Given the description of an element on the screen output the (x, y) to click on. 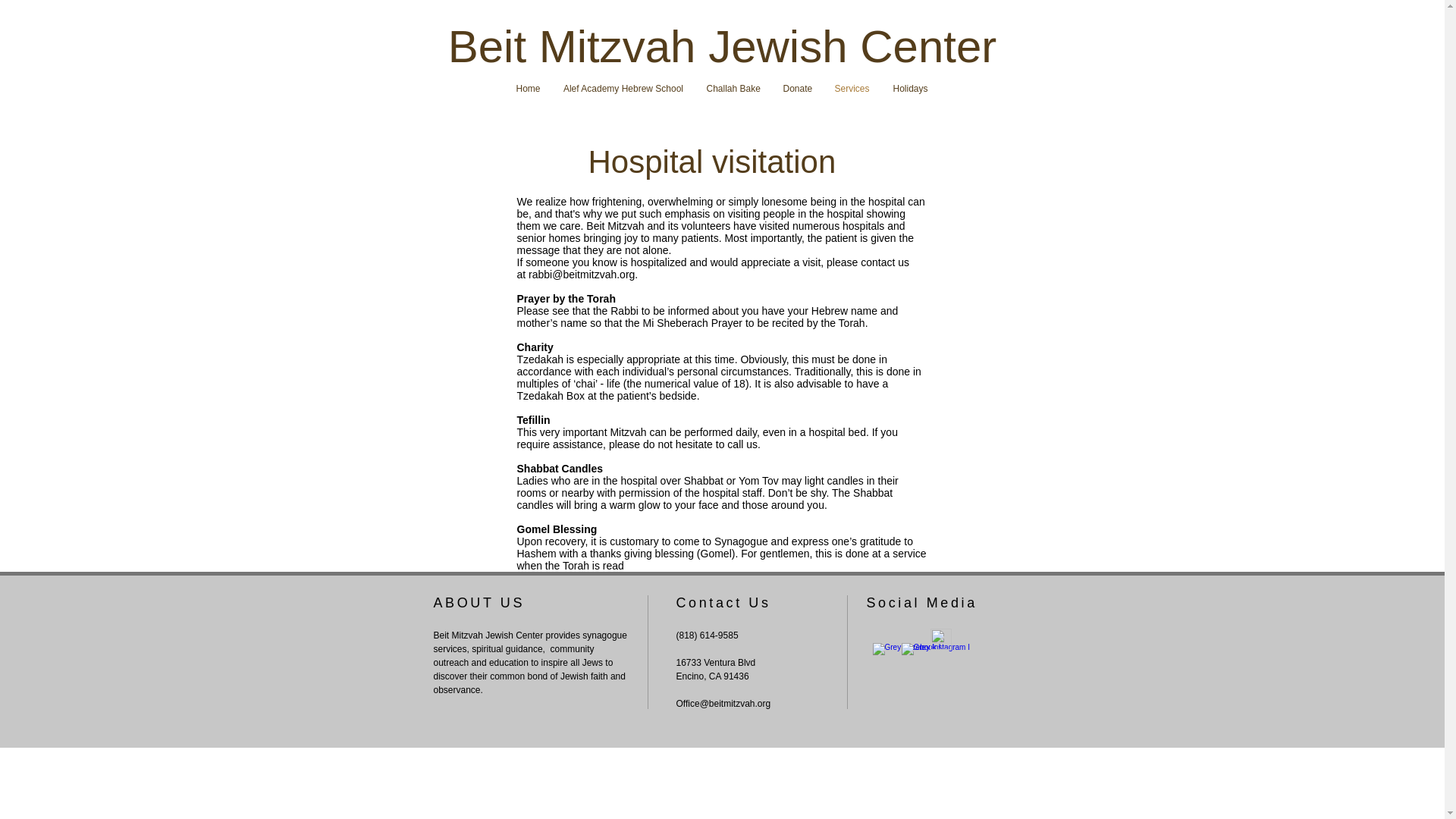
Beit Mitzvah Jewish Center (722, 46)
Home (528, 88)
Alef Academy Hebrew School (623, 88)
Donate (797, 88)
Challah Bake (732, 88)
Holidays (910, 88)
Services (852, 88)
